Given the description of an element on the screen output the (x, y) to click on. 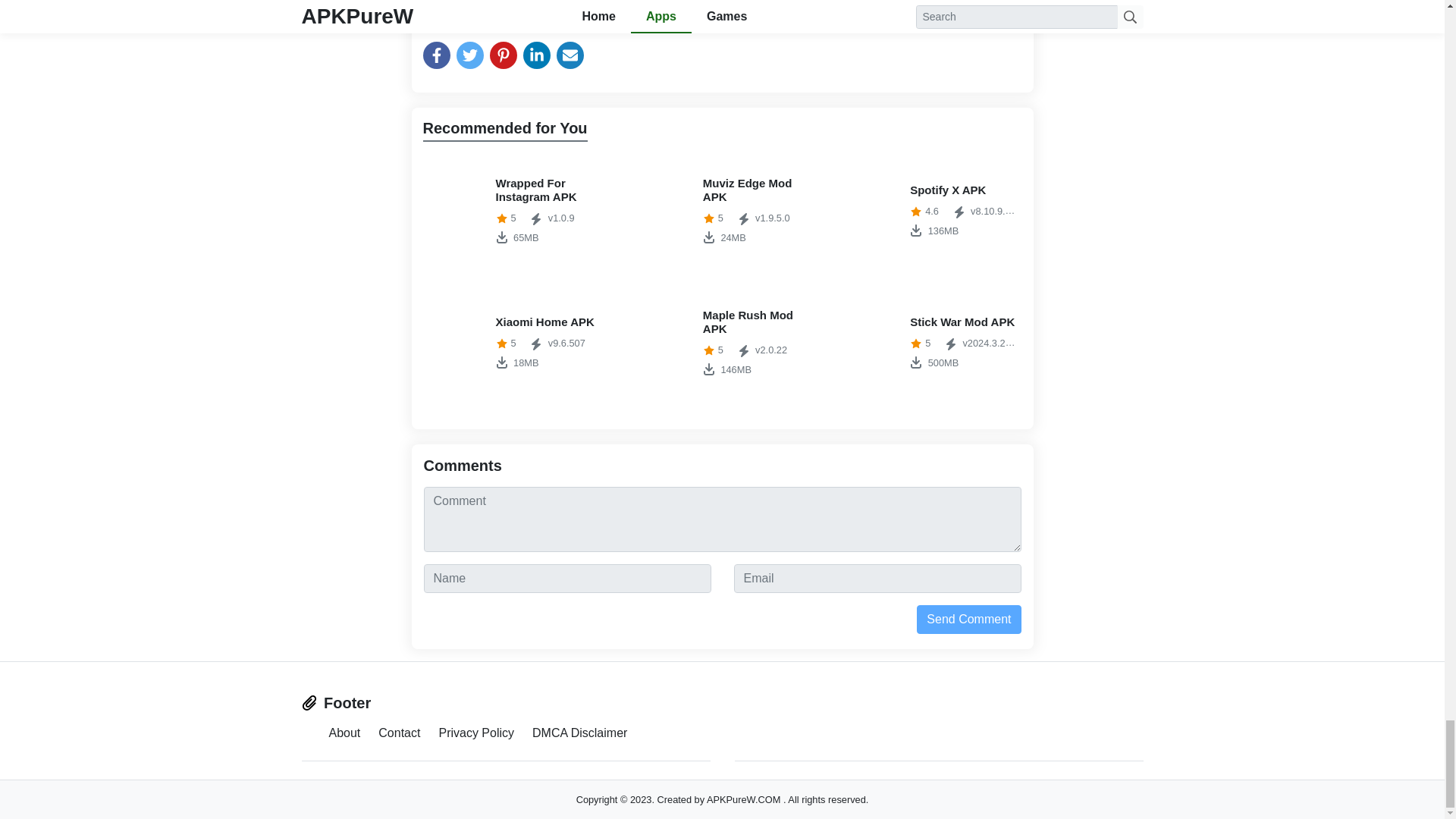
Privacy Policy (475, 732)
Send Comment (968, 619)
 Wrapped For Instagram APK  (515, 210)
 Stick War Mod APK (515, 210)
 Maple Rush Mod APK (721, 342)
Contact (929, 210)
 Muviz Edge Mod APK (929, 342)
 Spotify X APK (721, 342)
 Maple Rush Mod APK (399, 732)
 Muviz Edge Mod APK (515, 342)
